Given the description of an element on the screen output the (x, y) to click on. 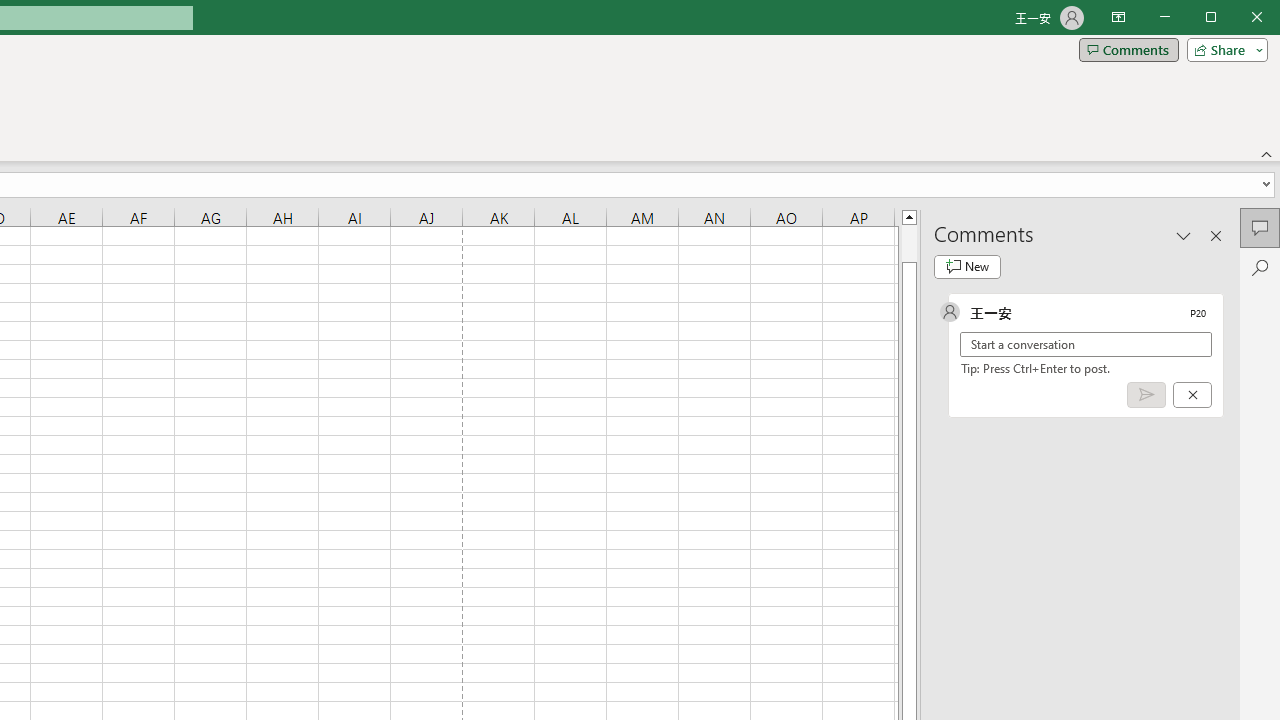
Page up (909, 243)
